Given the description of an element on the screen output the (x, y) to click on. 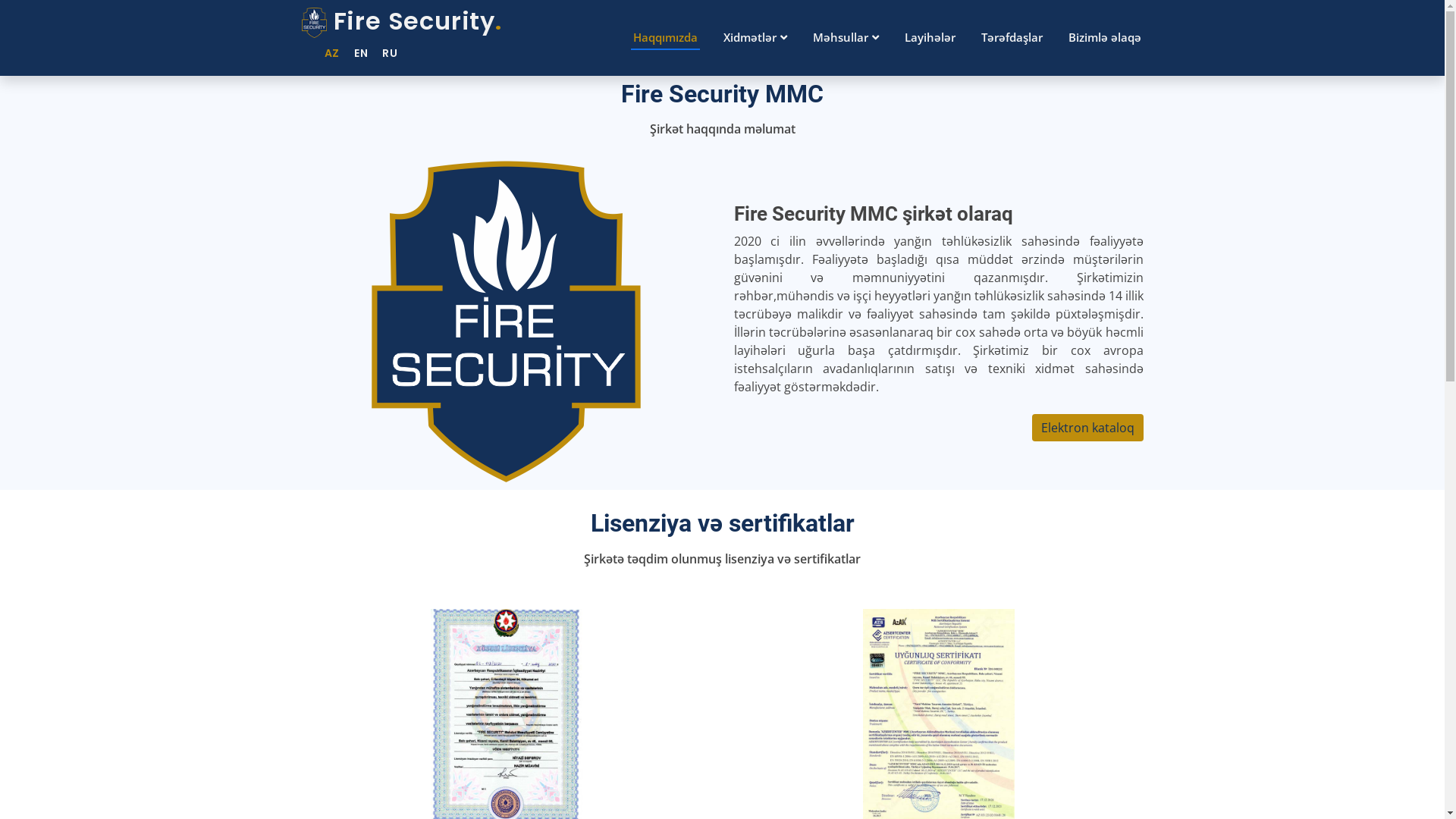
Elektron kataloq Element type: text (1086, 427)
Fire Security. Element type: text (401, 20)
EN Element type: text (355, 53)
AZ Element type: text (325, 53)
RU Element type: text (384, 53)
